Given the description of an element on the screen output the (x, y) to click on. 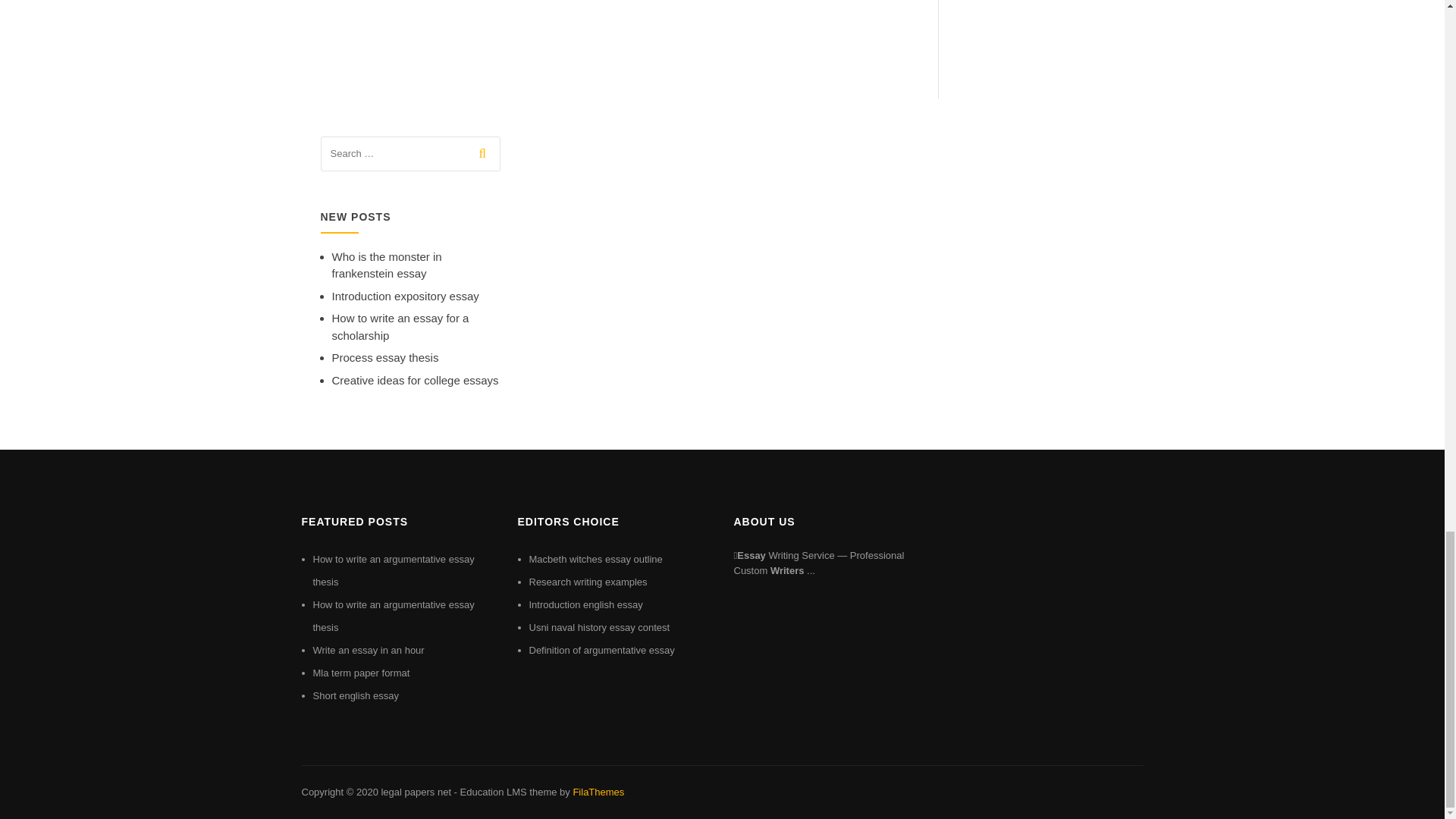
Short english essay (355, 695)
Creative ideas for college essays (415, 379)
How to write an argumentative essay thesis (393, 570)
Definition of argumentative essay (602, 650)
Introduction expository essay (405, 295)
Macbeth witches essay outline (595, 559)
Mla term paper format (361, 672)
Introduction english essay (586, 604)
How to write an essay for a scholarship (399, 327)
How to write an argumentative essay thesis (393, 615)
